Given the description of an element on the screen output the (x, y) to click on. 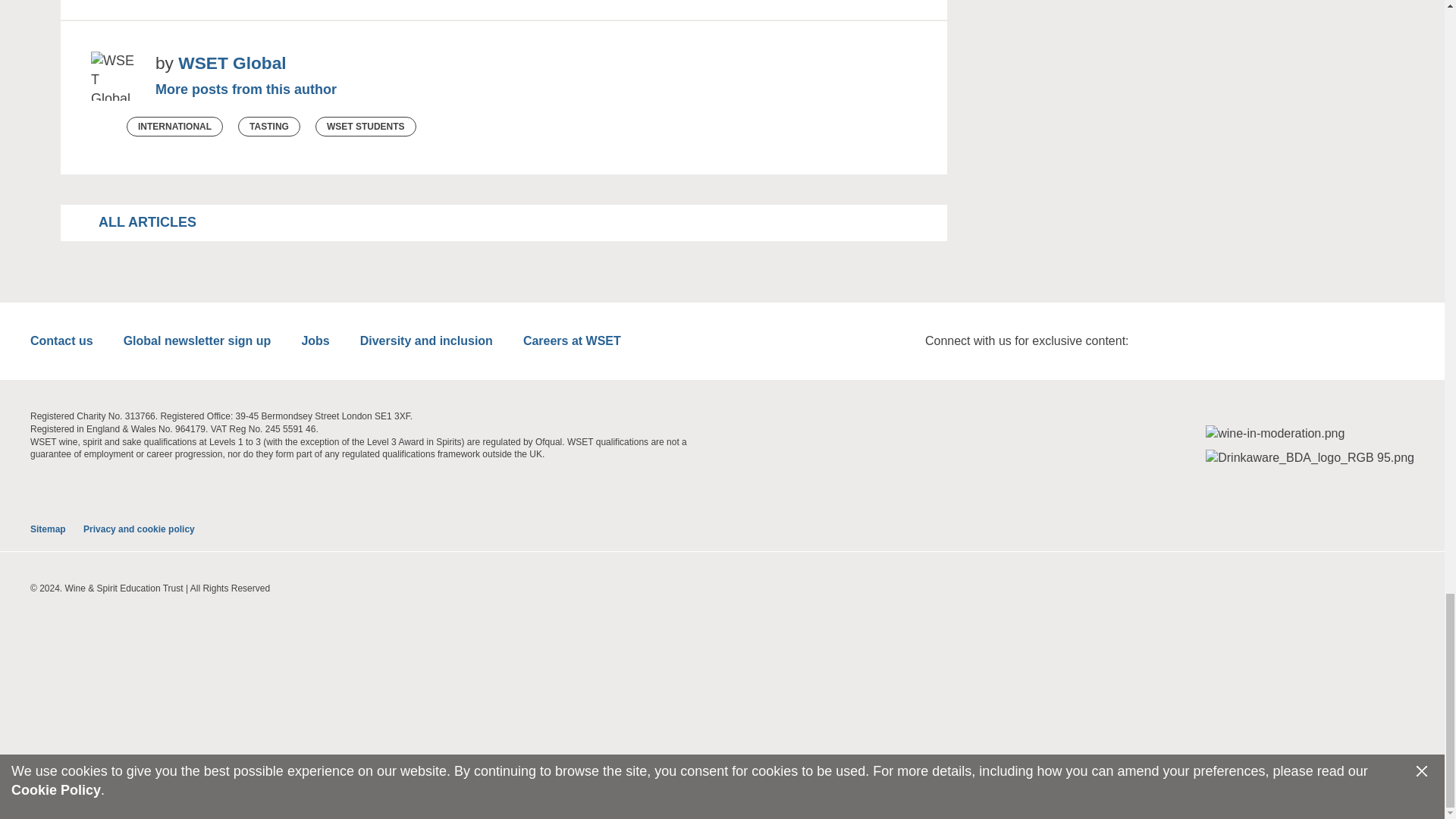
WSET Global (231, 63)
More Posts (245, 89)
All articles (143, 221)
Tasting (268, 127)
International (174, 127)
WSET students (365, 127)
